Given the description of an element on the screen output the (x, y) to click on. 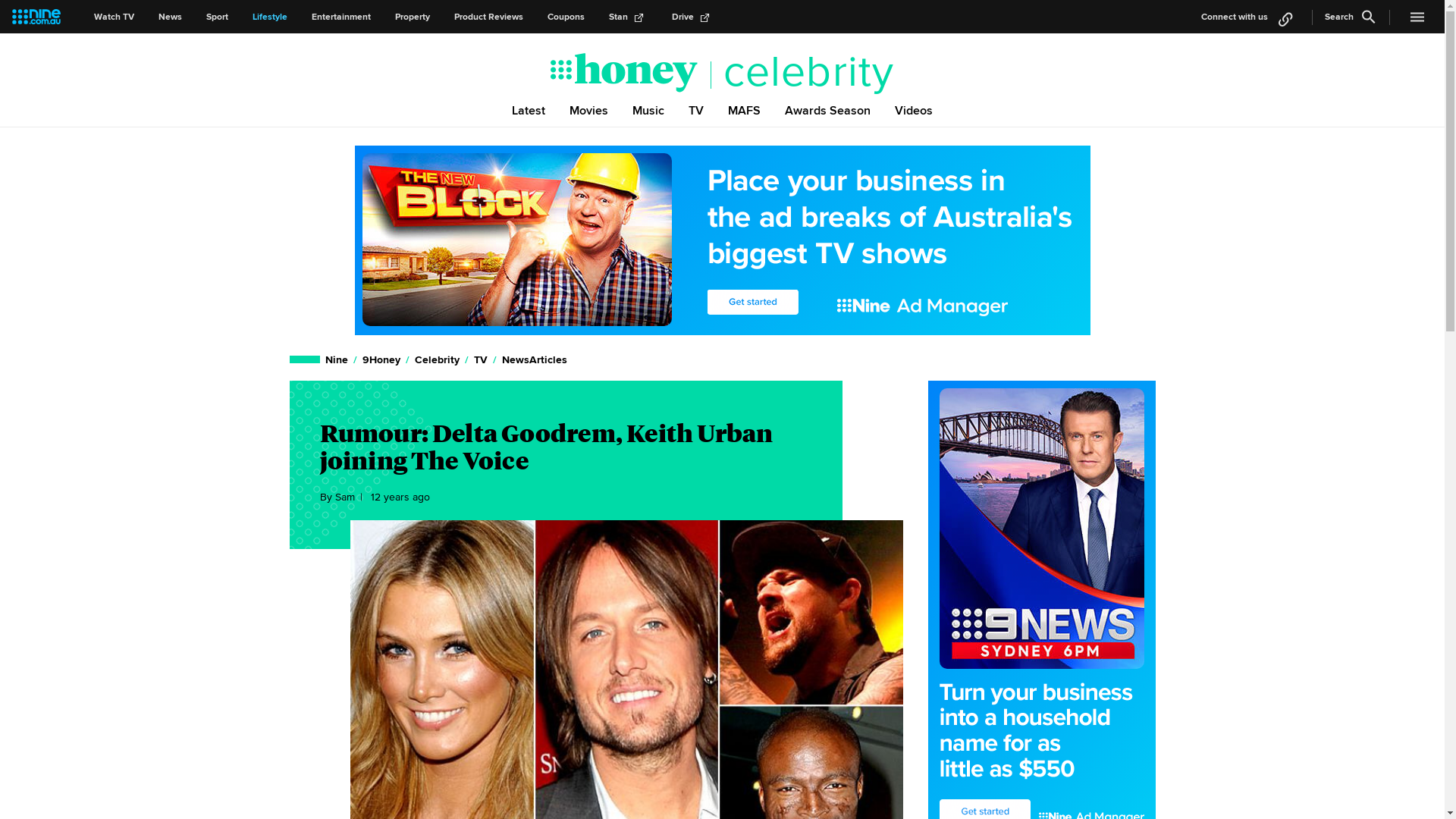
Latest Element type: text (528, 109)
NewsArticles Element type: text (533, 359)
Sport Element type: text (217, 16)
TV Element type: text (480, 359)
Music Element type: text (648, 109)
Coupons Element type: text (565, 16)
Celebrity Element type: text (436, 359)
Videos Element type: text (913, 109)
9Honey Element type: text (380, 359)
News Element type: text (170, 16)
Entertainment Element type: text (340, 16)
Nine Element type: text (336, 359)
3rd party ad content Element type: hover (722, 240)
celebrity Element type: text (802, 71)
Movies Element type: text (588, 109)
Stan Element type: text (627, 16)
Lifestyle Element type: text (269, 16)
Product Reviews Element type: text (488, 16)
Property Element type: text (412, 16)
Drive Element type: text (692, 16)
Awards Season Element type: text (827, 109)
Watch TV Element type: text (114, 16)
TV Element type: text (695, 109)
MAFS Element type: text (743, 109)
